Given the description of an element on the screen output the (x, y) to click on. 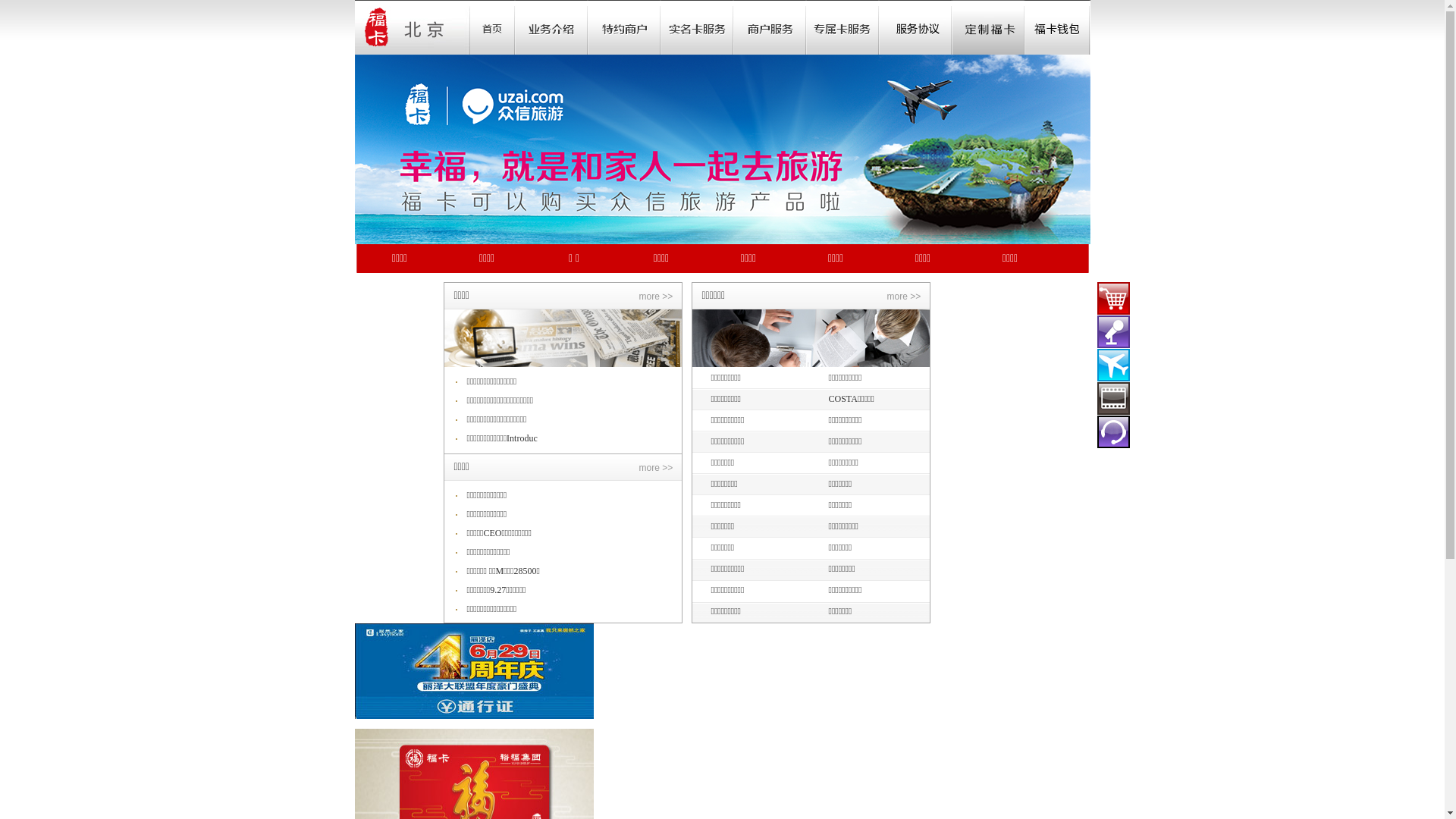
Store Locator Element type: text (914, 27)
Sale Element type: text (623, 27)
more >> Element type: text (655, 296)
Store Locator Element type: text (769, 27)
more >> Element type: text (904, 296)
Store Locator Element type: text (842, 27)
more >> Element type: text (655, 467)
Community Element type: text (696, 27)
